Given the description of an element on the screen output the (x, y) to click on. 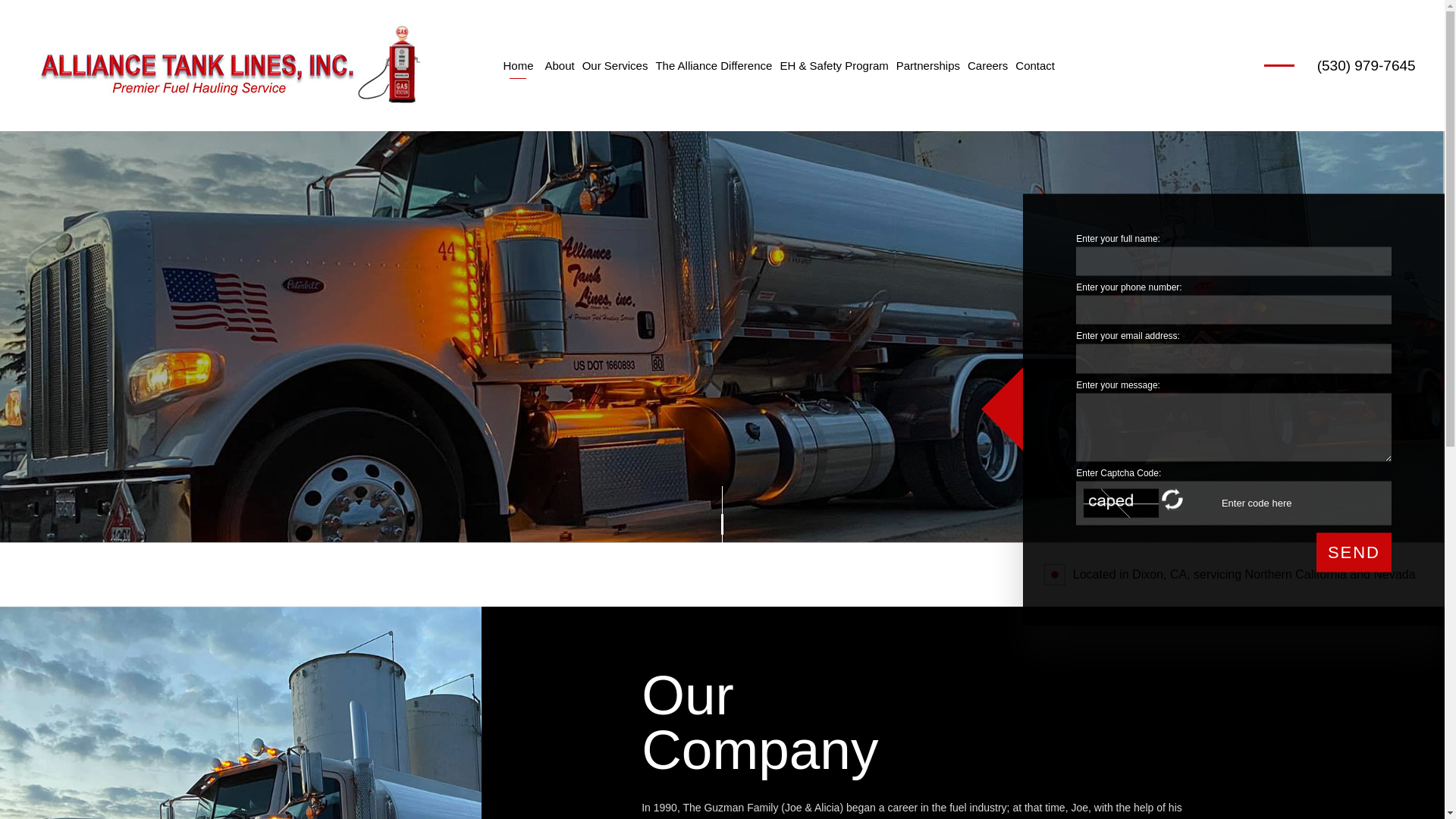
Phone Number (1233, 309)
About (559, 65)
The Alliance Difference (713, 65)
Refresh Captcha (1173, 499)
Our Services (615, 65)
Careers (987, 65)
Email Address (1233, 358)
SEND (1353, 551)
Partnerships (927, 65)
Captcha Code (1284, 502)
Home (517, 65)
Full Name (1233, 261)
Contact (1034, 65)
Your Message (1233, 427)
